Given the description of an element on the screen output the (x, y) to click on. 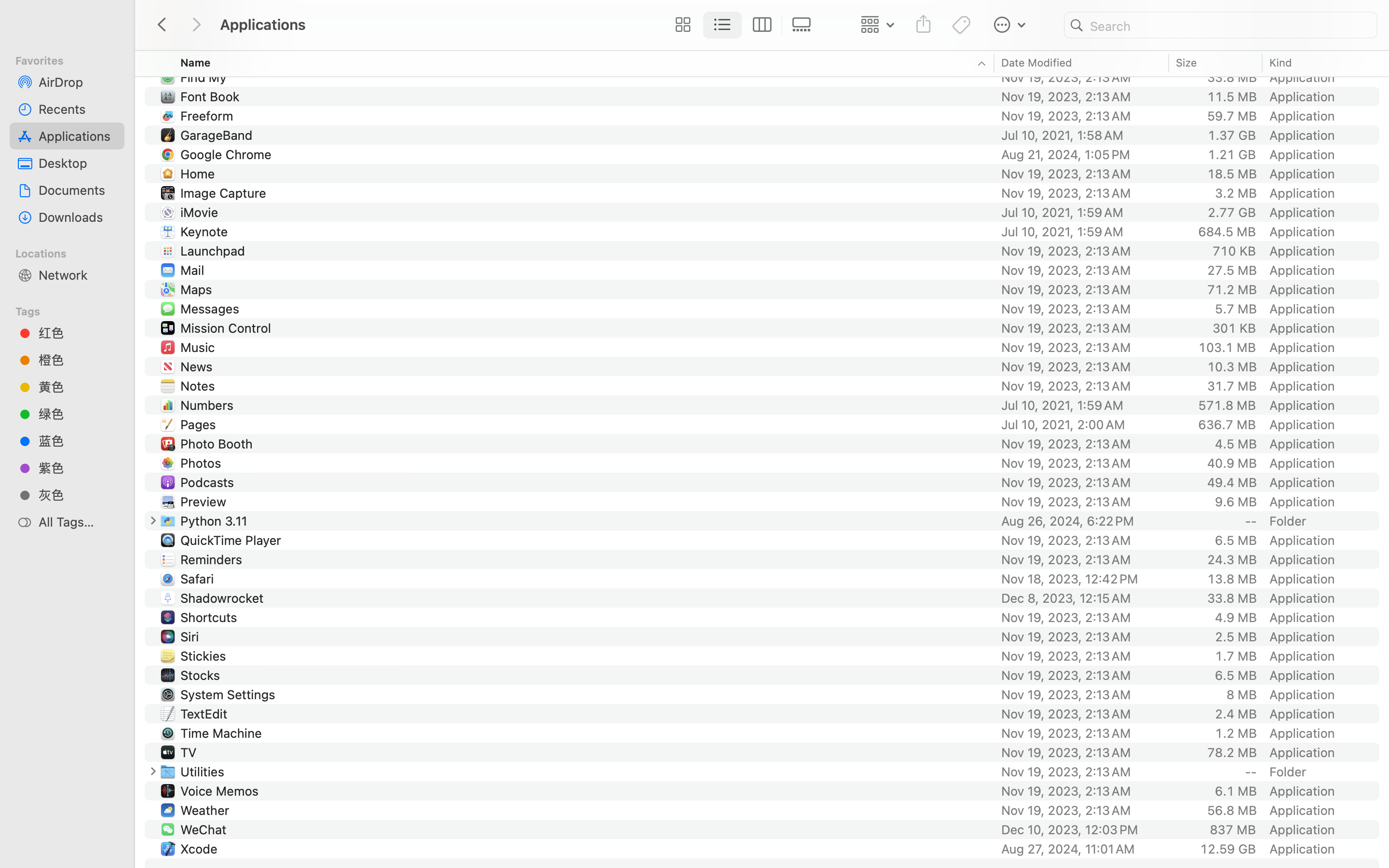
710 KB Element type: AXStaticText (1233, 250)
14.6 MB Element type: AXStaticText (1231, 38)
Aug 27, 2024, 11:01 AM Element type: AXStaticText (1081, 848)
40.9 MB Element type: AXStaticText (1231, 462)
Pages Element type: AXTextField (199, 424)
